Given the description of an element on the screen output the (x, y) to click on. 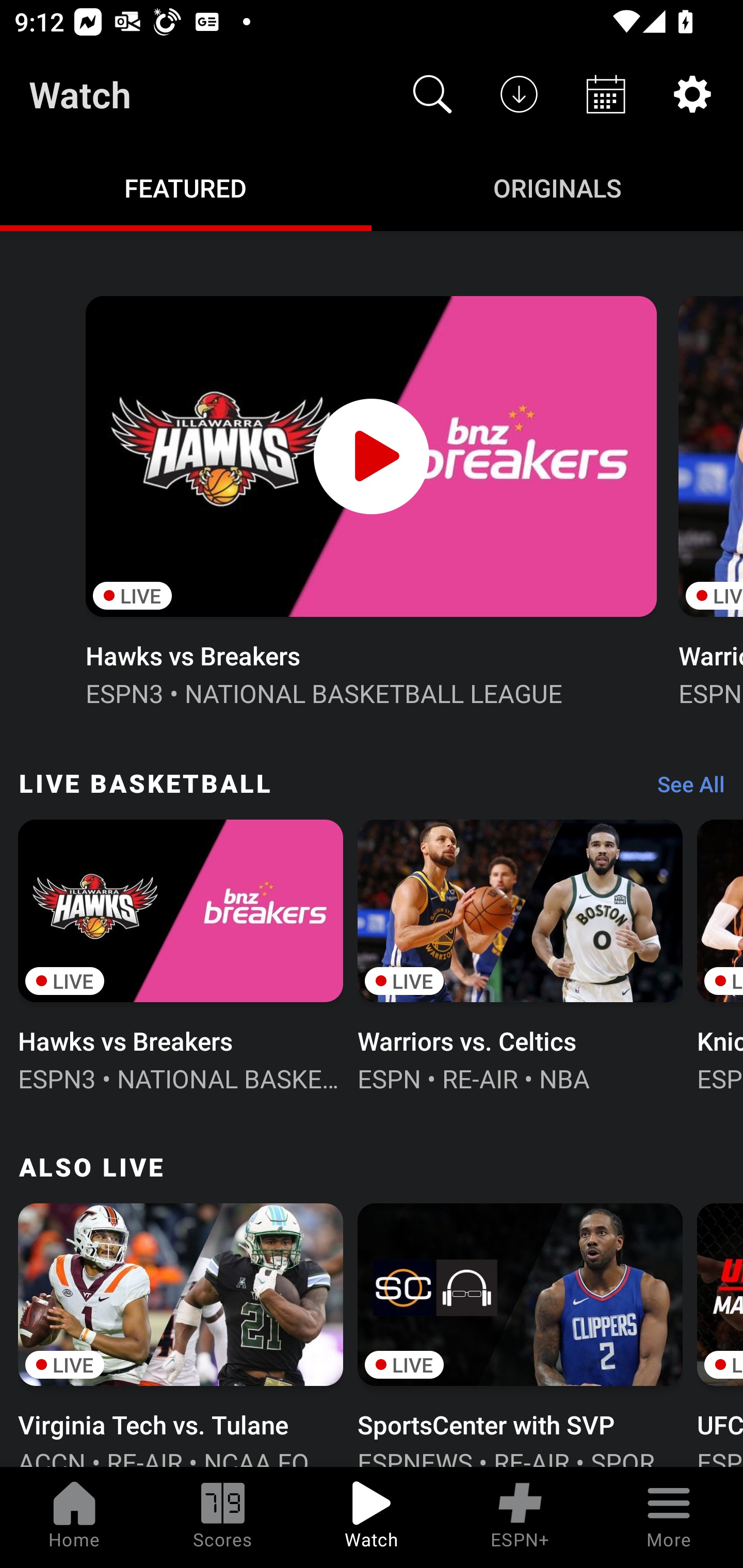
Search (432, 93)
Downloads (518, 93)
Schedule (605, 93)
Settings (692, 93)
Originals ORIGINALS (557, 187)
See All (683, 788)
LIVE Warriors vs. Celtics ESPN • RE-AIR • NBA (519, 954)
Home (74, 1517)
Scores (222, 1517)
ESPN+ (519, 1517)
More (668, 1517)
